Given the description of an element on the screen output the (x, y) to click on. 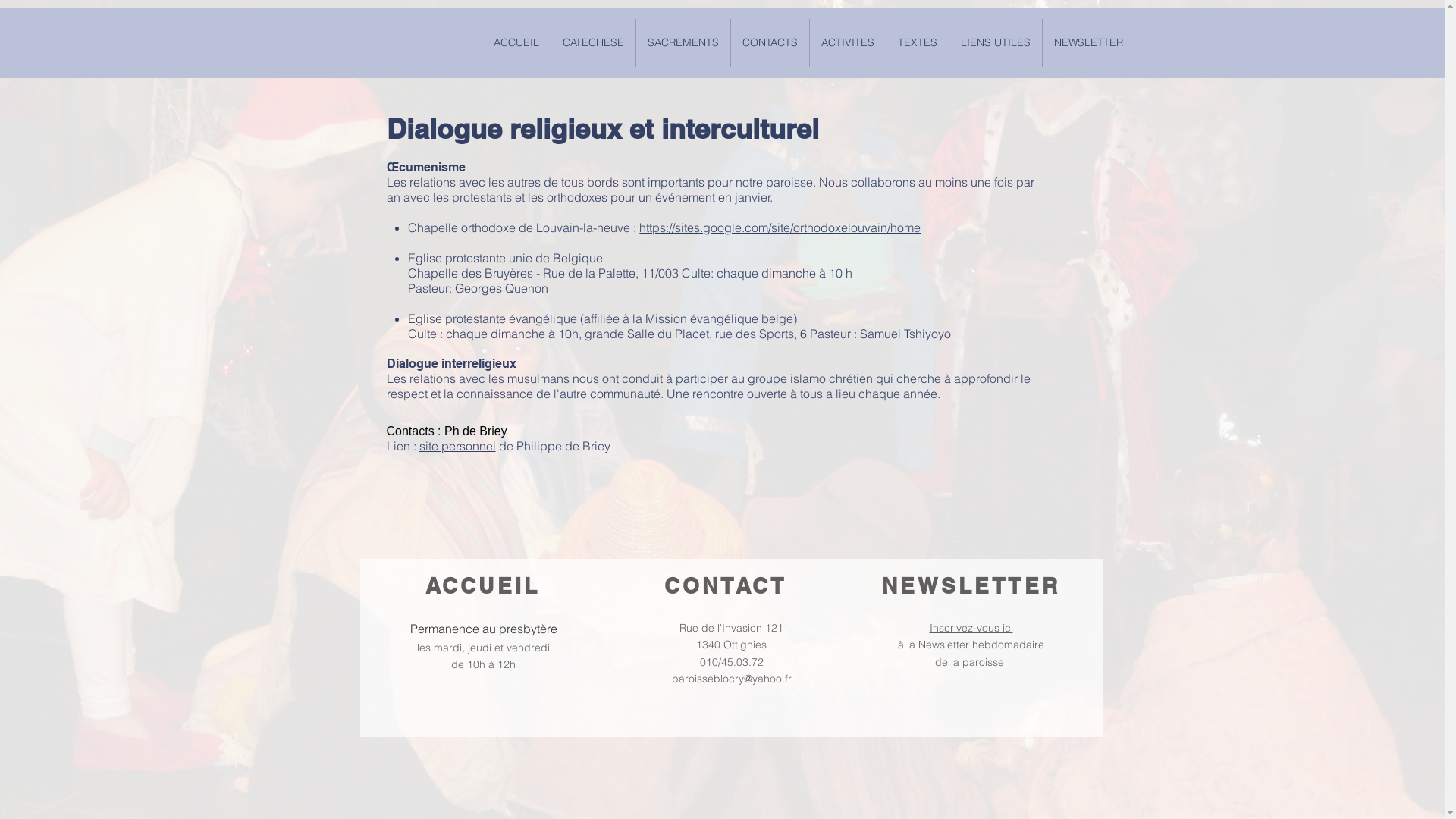
ACCUEIL Element type: text (515, 42)
CATECHESE Element type: text (592, 42)
Inscrivez-vous ici Element type: text (971, 627)
CONTACTS Element type: text (769, 42)
https://sites.google.com/site/orthodoxelouvain/home Element type: text (779, 227)
ACTIVITES Element type: text (847, 42)
LIENS UTILES Element type: text (994, 42)
SACREMENTS Element type: text (682, 42)
site personnel Element type: text (456, 445)
paroisseblocry@yahoo.fr Element type: text (731, 678)
NEWSLETTER Element type: text (1087, 42)
